Given the description of an element on the screen output the (x, y) to click on. 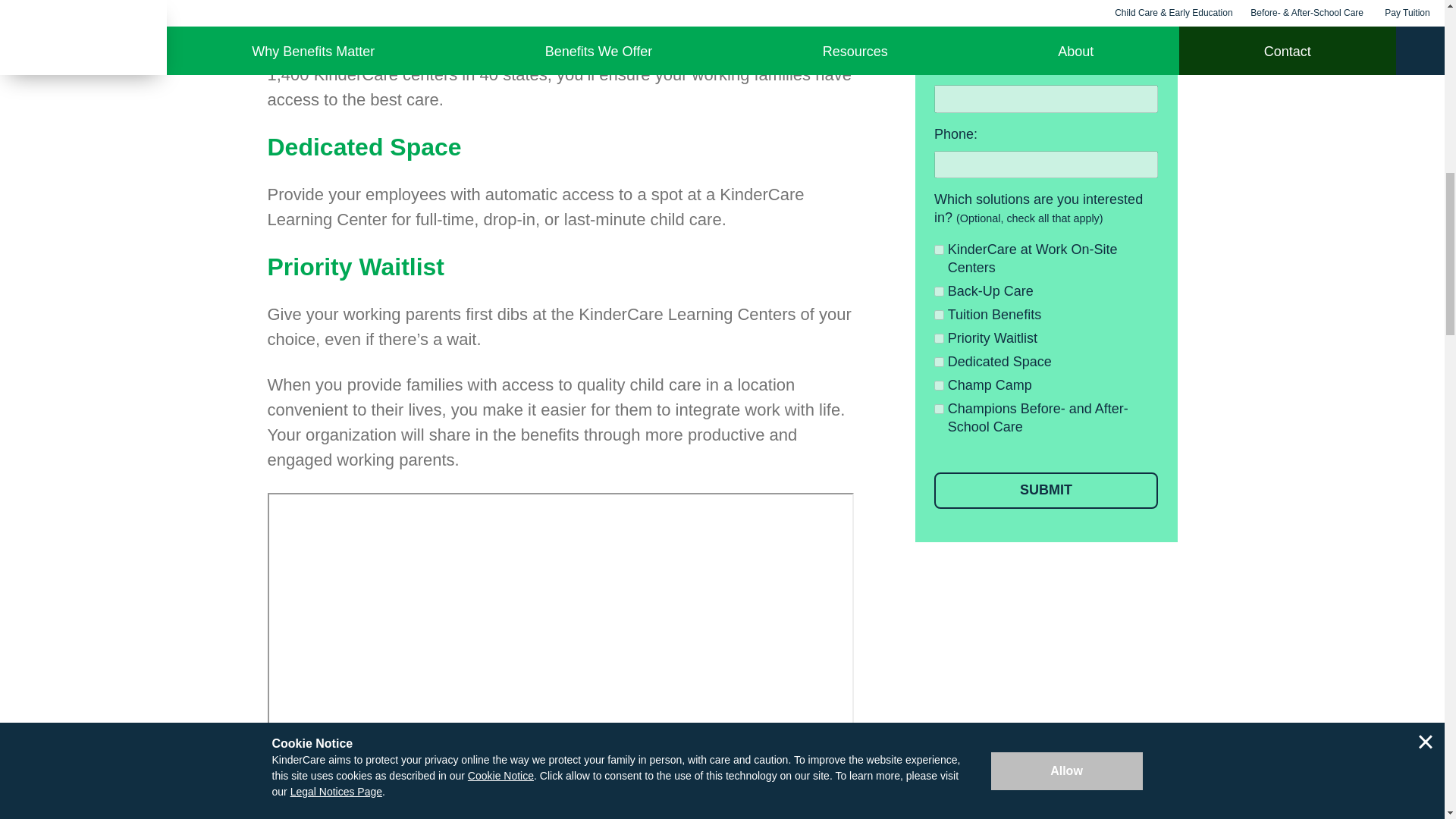
SUBMIT (1045, 490)
Champ Camp (938, 385)
Champions Before- and After-School Care (938, 409)
Priority Waitlist (938, 338)
Dedicated Space (938, 361)
Tuition Benefit (938, 315)
Back-Up Care (938, 291)
SUBMIT (1045, 490)
